Given the description of an element on the screen output the (x, y) to click on. 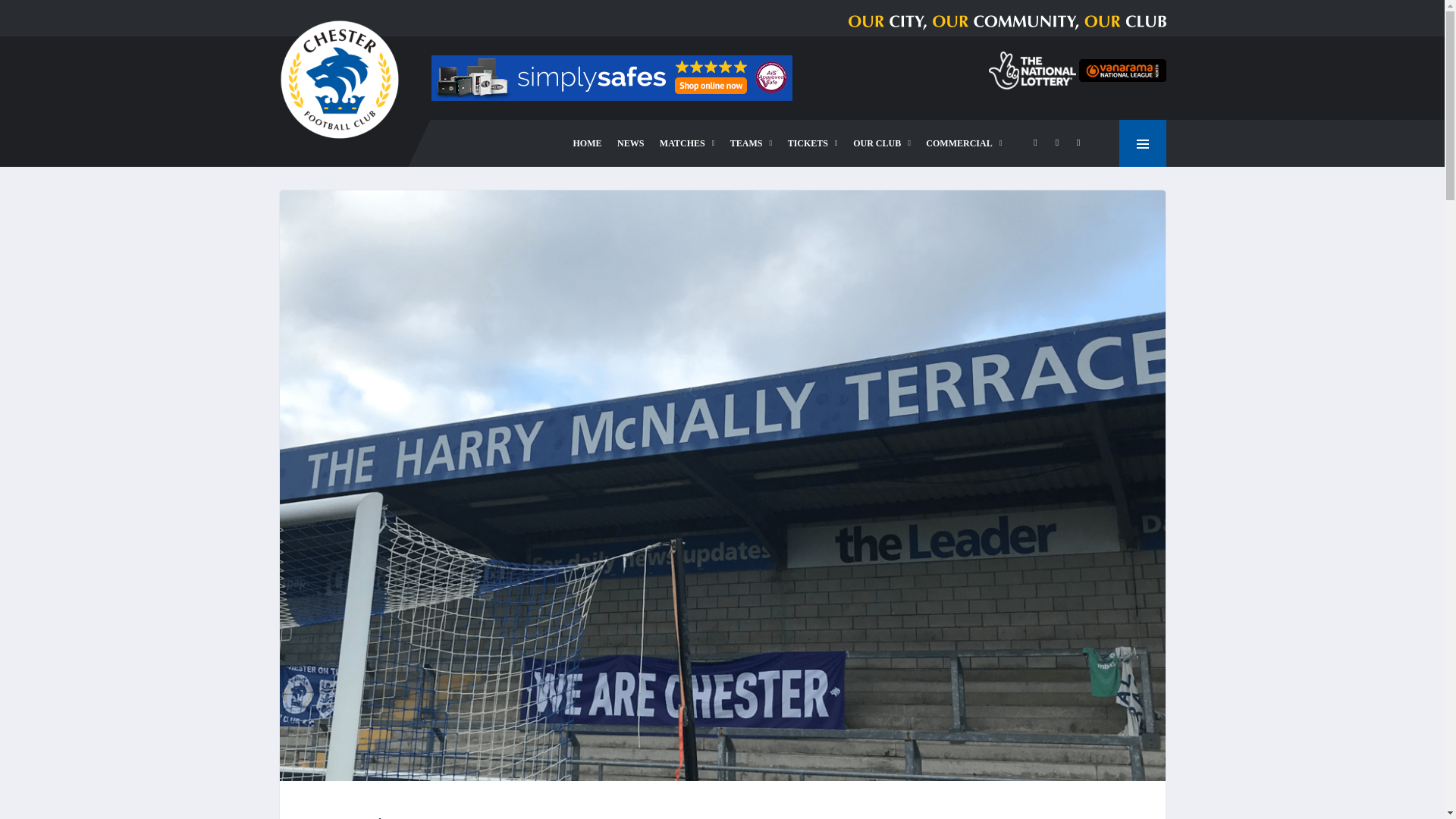
NEWS (630, 143)
HOME (587, 143)
OUR CLUB (882, 143)
TEAMS (750, 143)
TICKETS (812, 143)
MATCHES (686, 143)
